Given the description of an element on the screen output the (x, y) to click on. 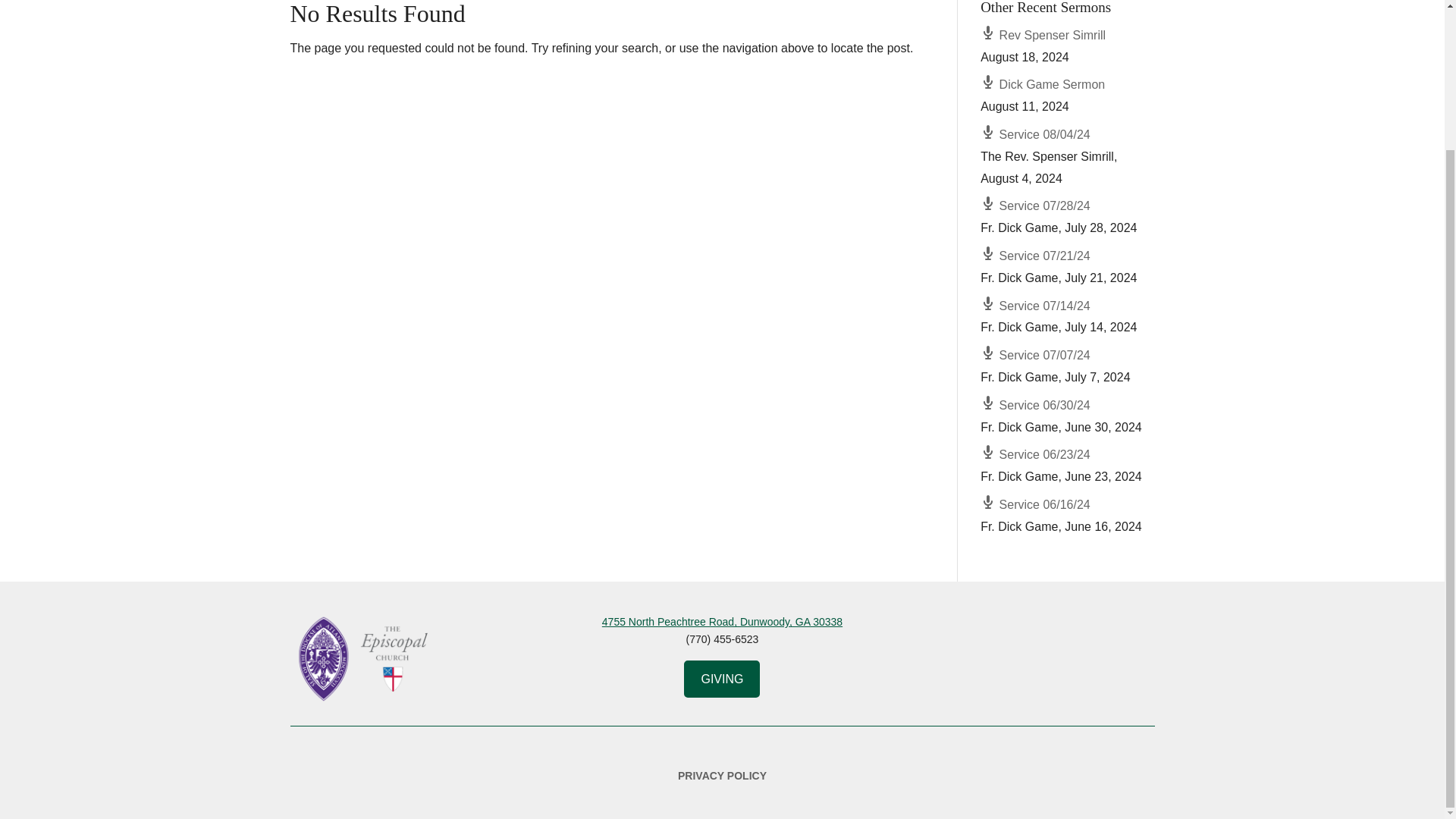
duallogos3 (365, 658)
Dick Game Sermon (1042, 83)
Rev Spenser Simrill (1042, 34)
